Given the description of an element on the screen output the (x, y) to click on. 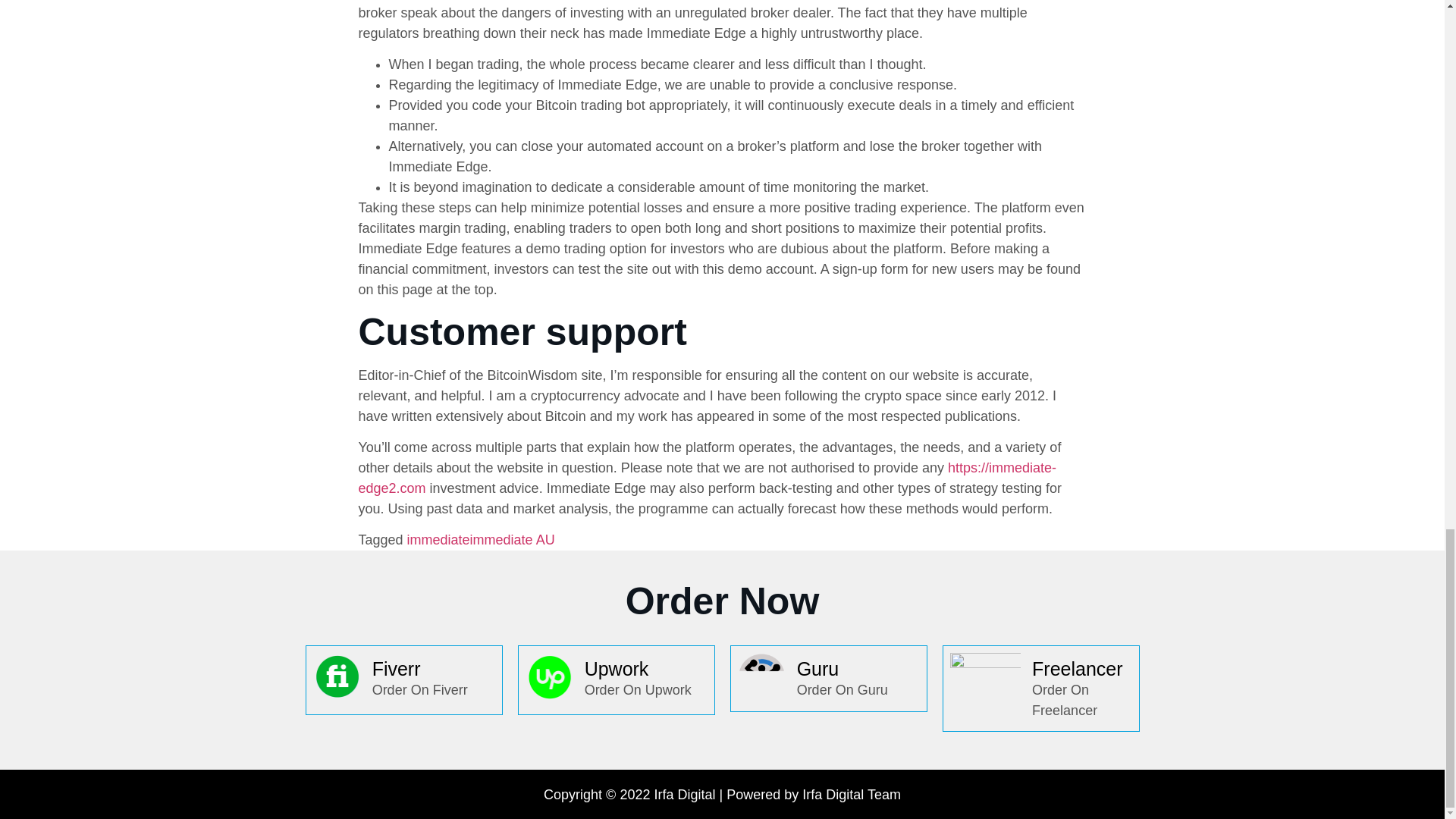
Freelancer (1077, 668)
Irfa Digital Team (851, 794)
immediate (438, 539)
Guru (818, 668)
Fiverr (396, 668)
immediate AU (512, 539)
Upwork (617, 668)
